Given the description of an element on the screen output the (x, y) to click on. 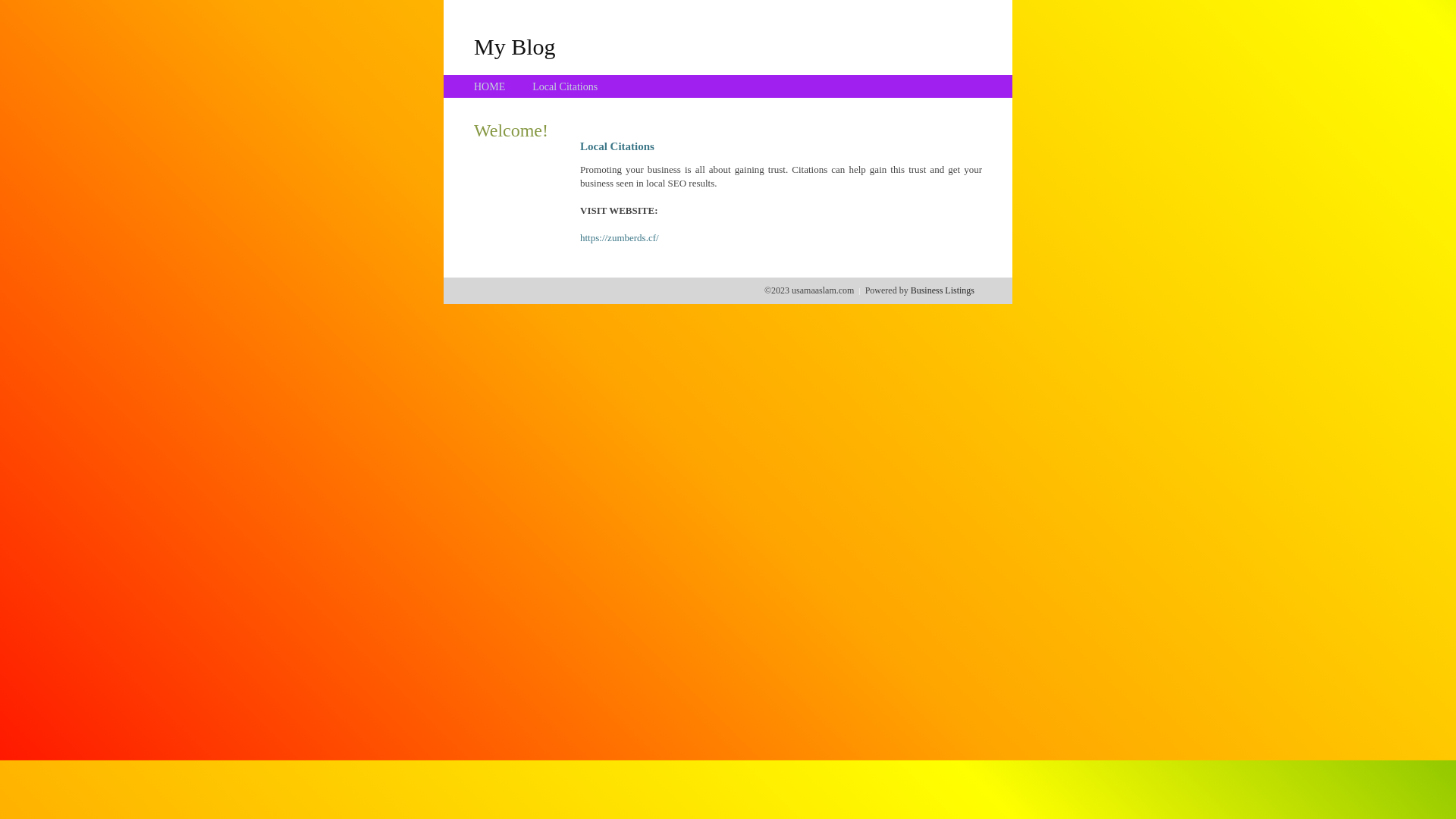
https://zumberds.cf/ Element type: text (619, 237)
My Blog Element type: text (514, 46)
Business Listings Element type: text (942, 290)
Local Citations Element type: text (564, 86)
HOME Element type: text (489, 86)
